Given the description of an element on the screen output the (x, y) to click on. 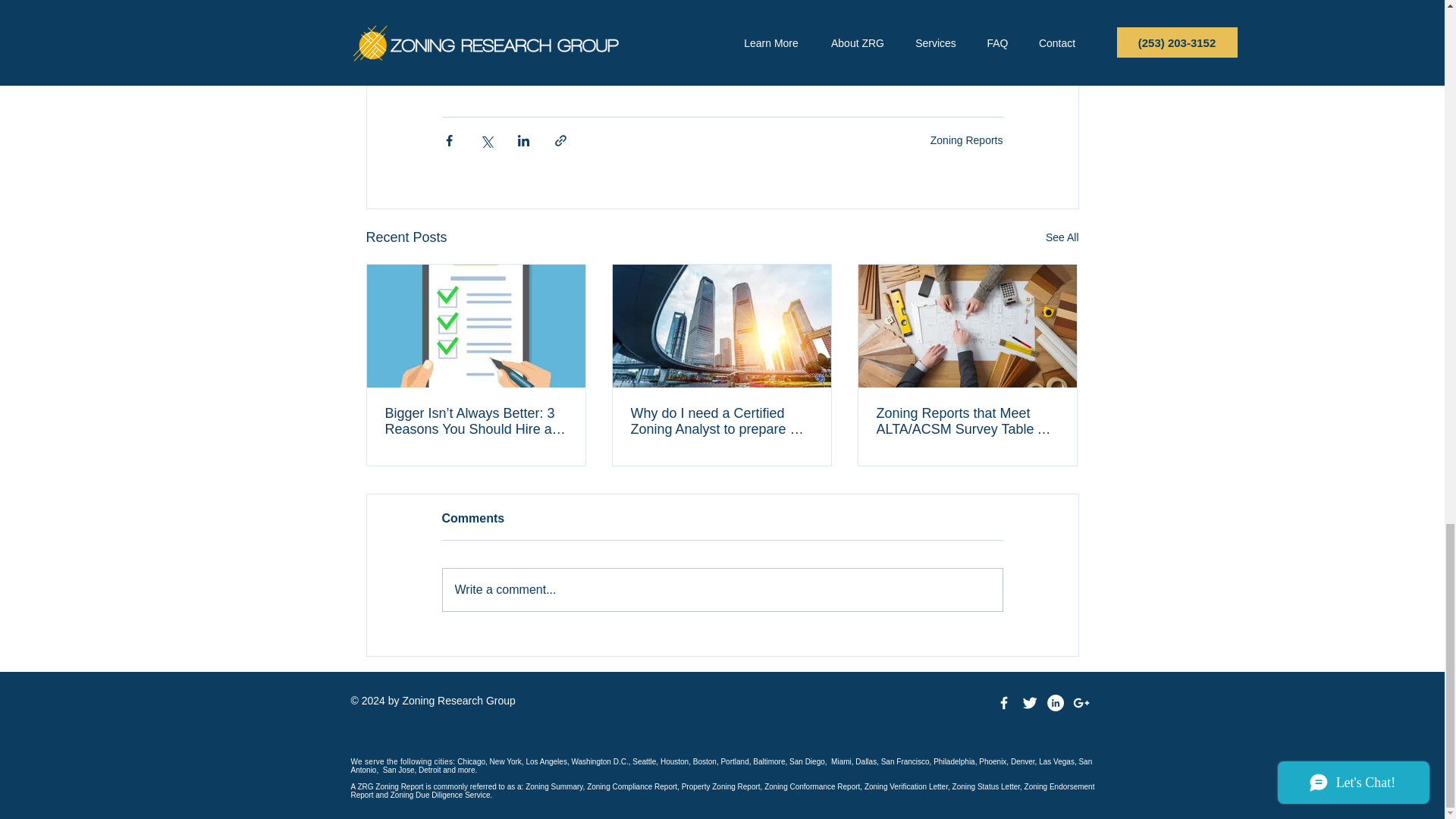
Write a comment... (722, 589)
See All (1061, 237)
Zoning Reports (966, 140)
